Given the description of an element on the screen output the (x, y) to click on. 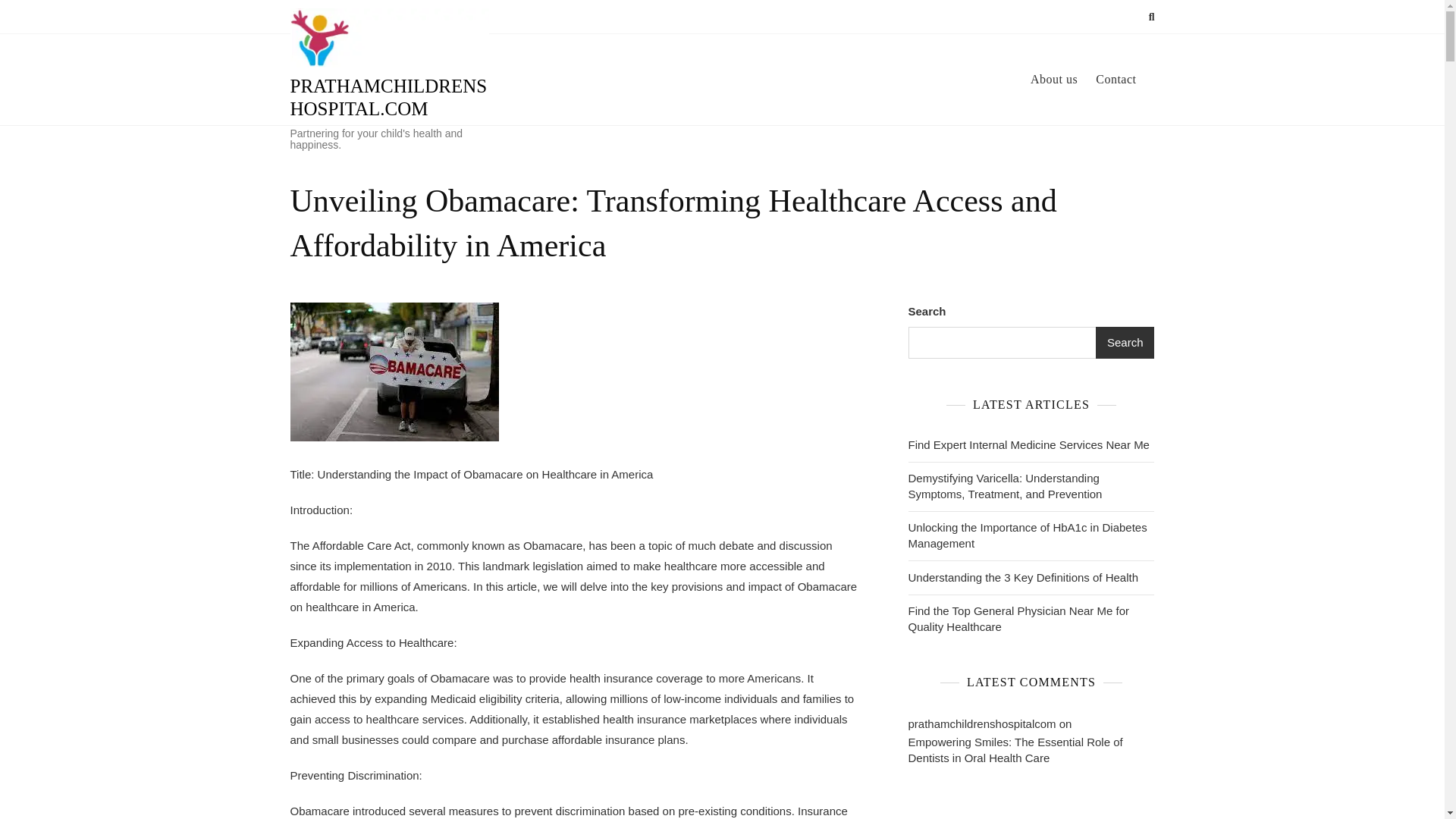
PRATHAMCHILDRENSHOSPITAL.COM (387, 97)
Contact (1125, 79)
About us (1063, 79)
